Given the description of an element on the screen output the (x, y) to click on. 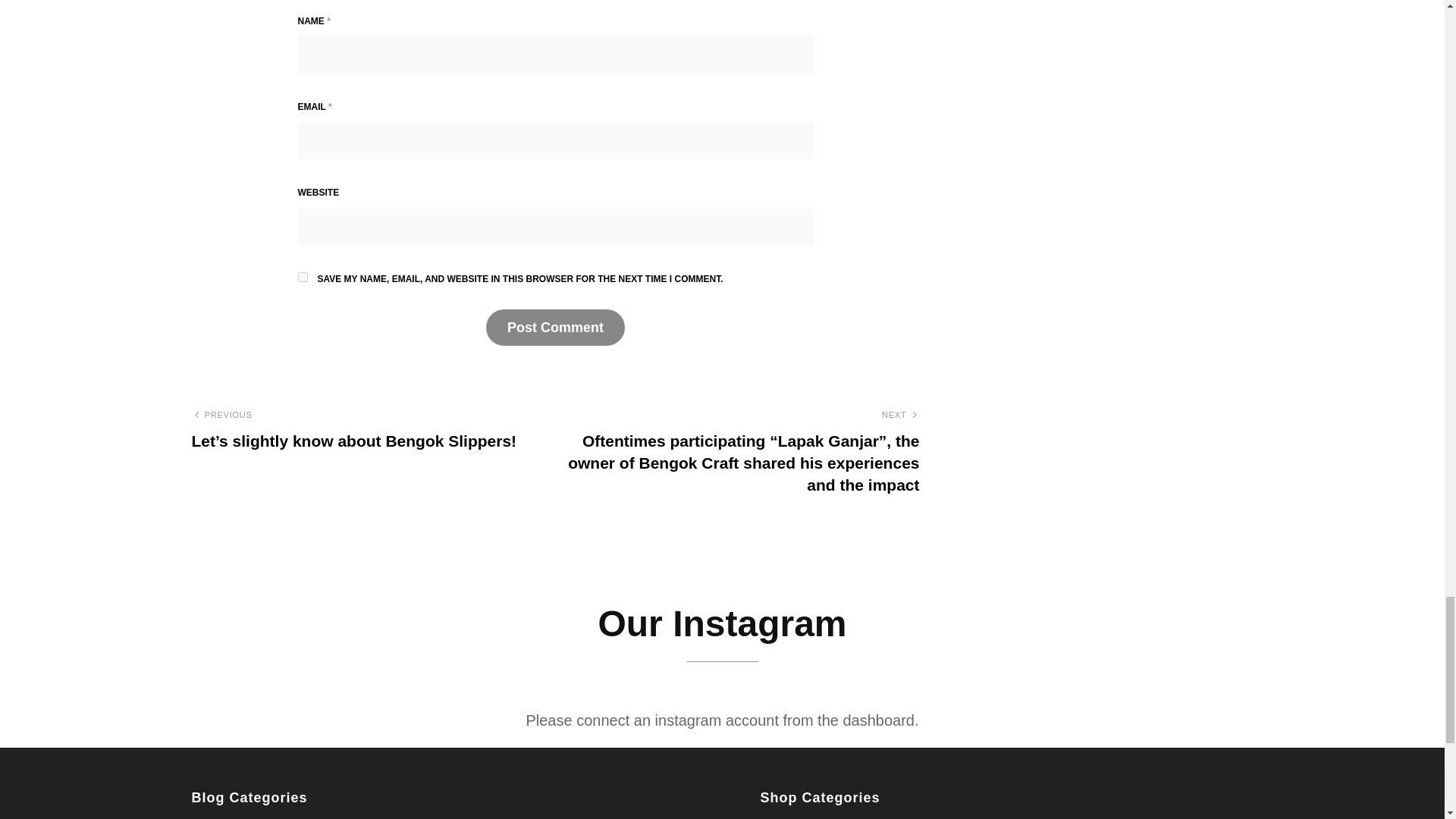
Post Comment (555, 327)
yes (302, 276)
Post Comment (555, 327)
